Given the description of an element on the screen output the (x, y) to click on. 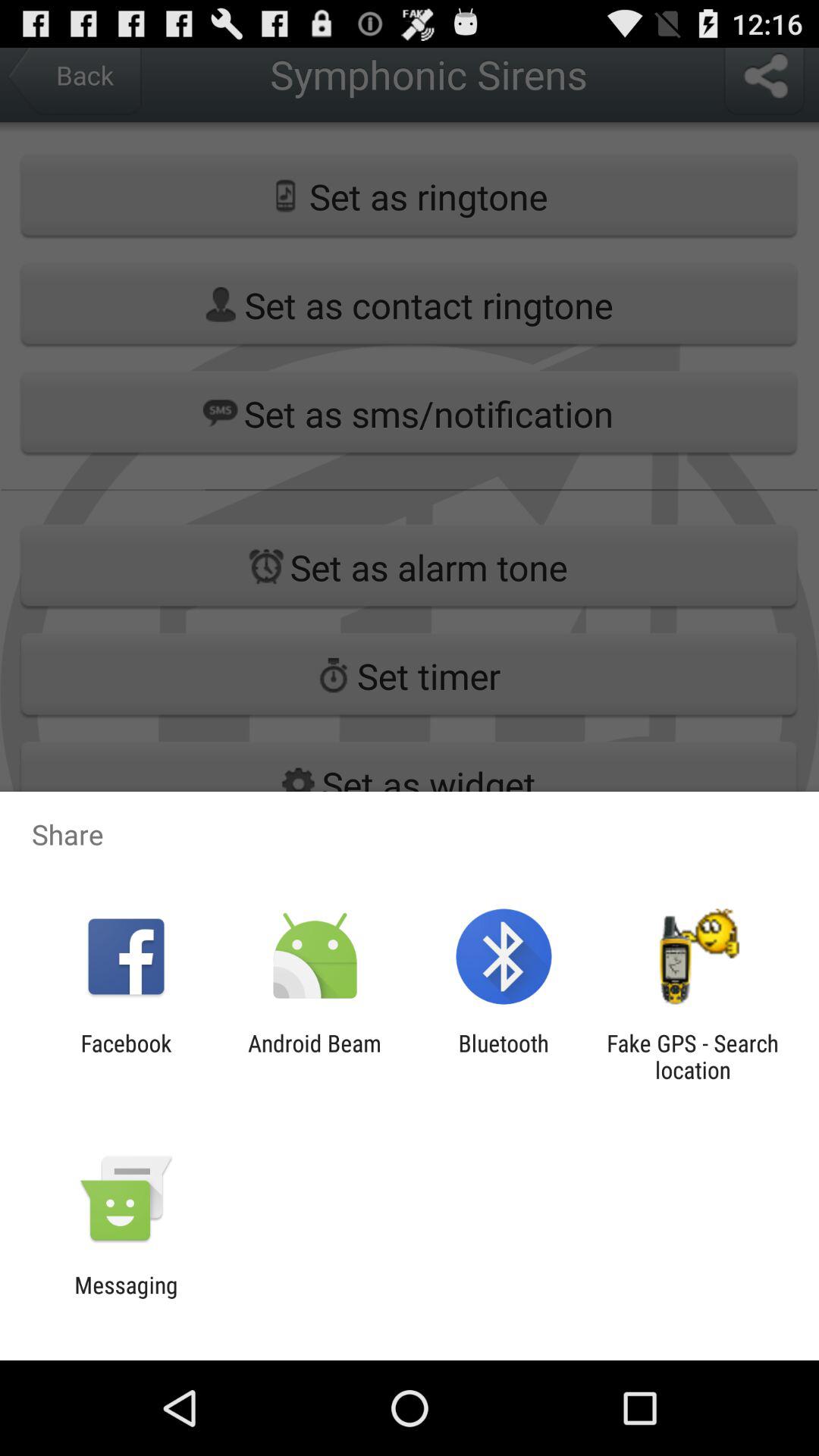
press item to the right of the bluetooth (692, 1056)
